Given the description of an element on the screen output the (x, y) to click on. 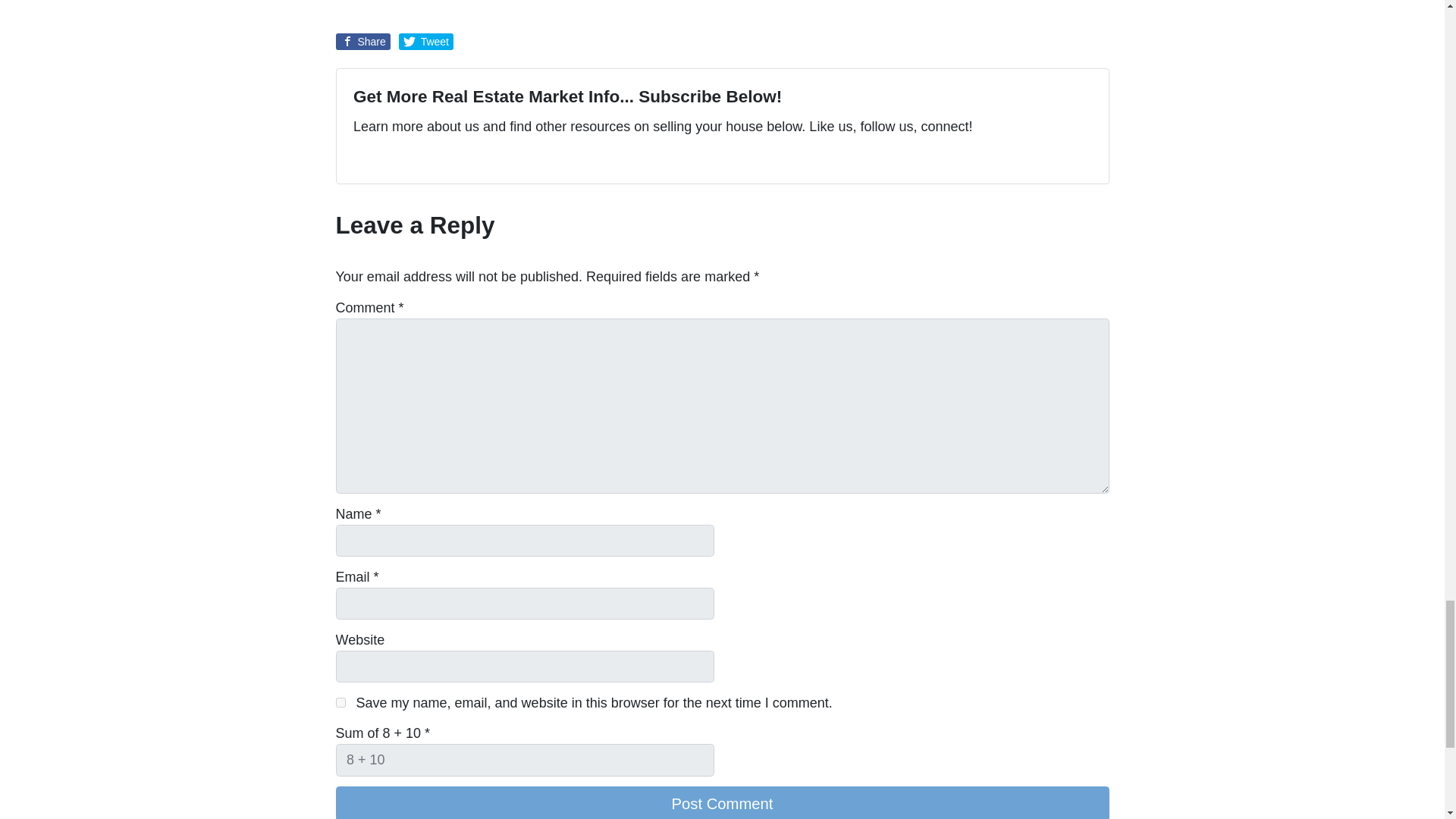
yes (339, 702)
YouTube (397, 158)
Facebook (379, 158)
Share (362, 41)
Post Comment (721, 802)
Share on Facebook (362, 41)
Houzz (470, 158)
Post Comment (721, 802)
LinkedIn (415, 158)
Tweet (425, 41)
